Given the description of an element on the screen output the (x, y) to click on. 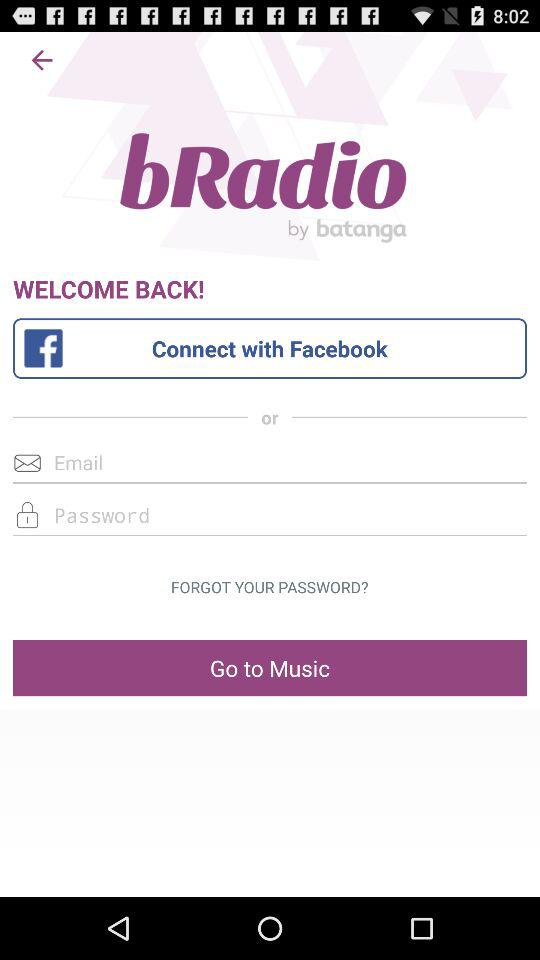
tap forgot your password? button (269, 587)
